Given the description of an element on the screen output the (x, y) to click on. 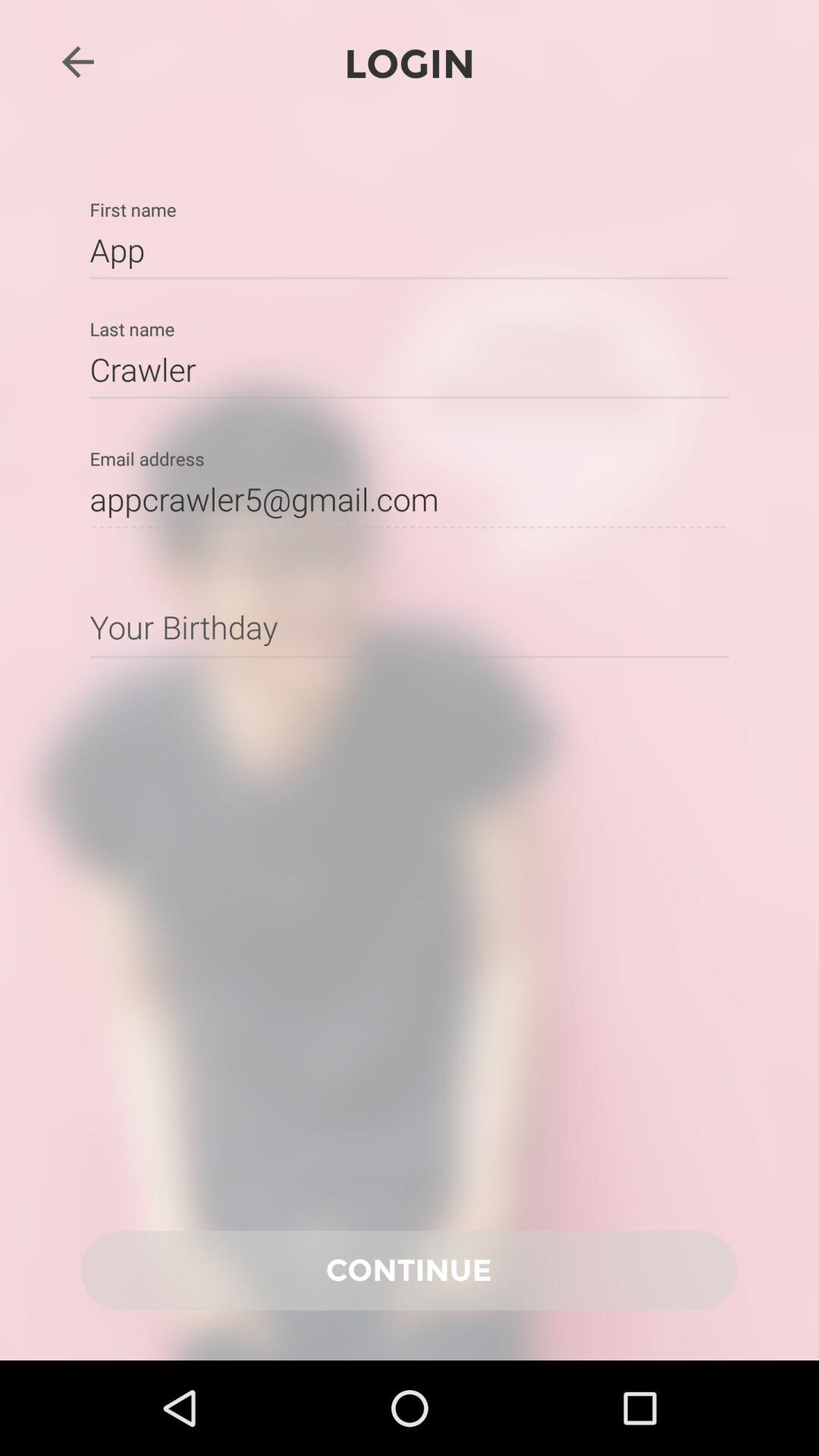
toggle a select option (409, 626)
